Given the description of an element on the screen output the (x, y) to click on. 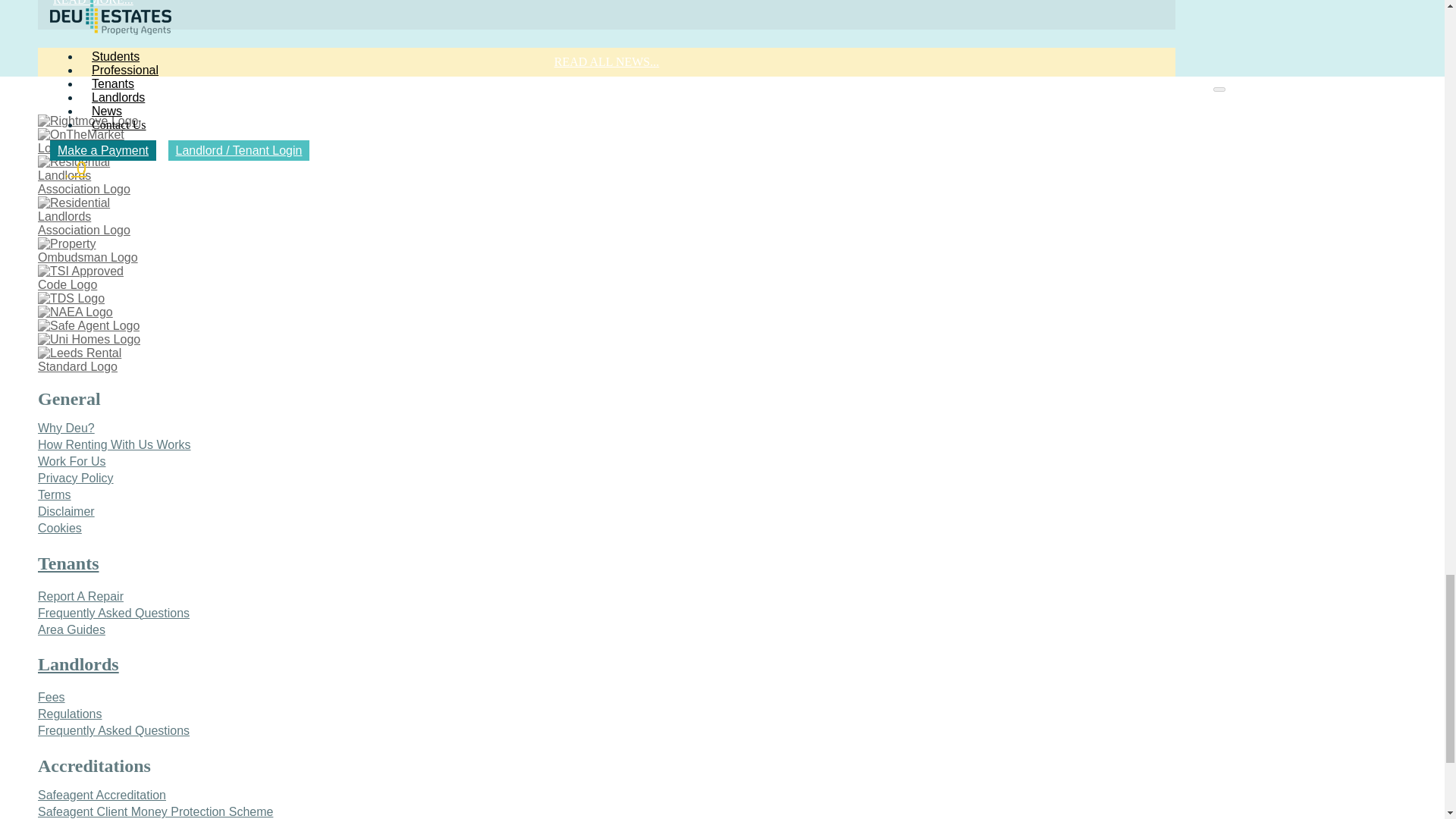
Terms (54, 494)
Why Deu? (65, 427)
How Renting With Us Works (113, 444)
Tenants (68, 563)
Cookies (59, 527)
Report A Repair (80, 595)
Disclaimer (65, 511)
Privacy Policy (75, 477)
Work For Us (70, 461)
